Given the description of an element on the screen output the (x, y) to click on. 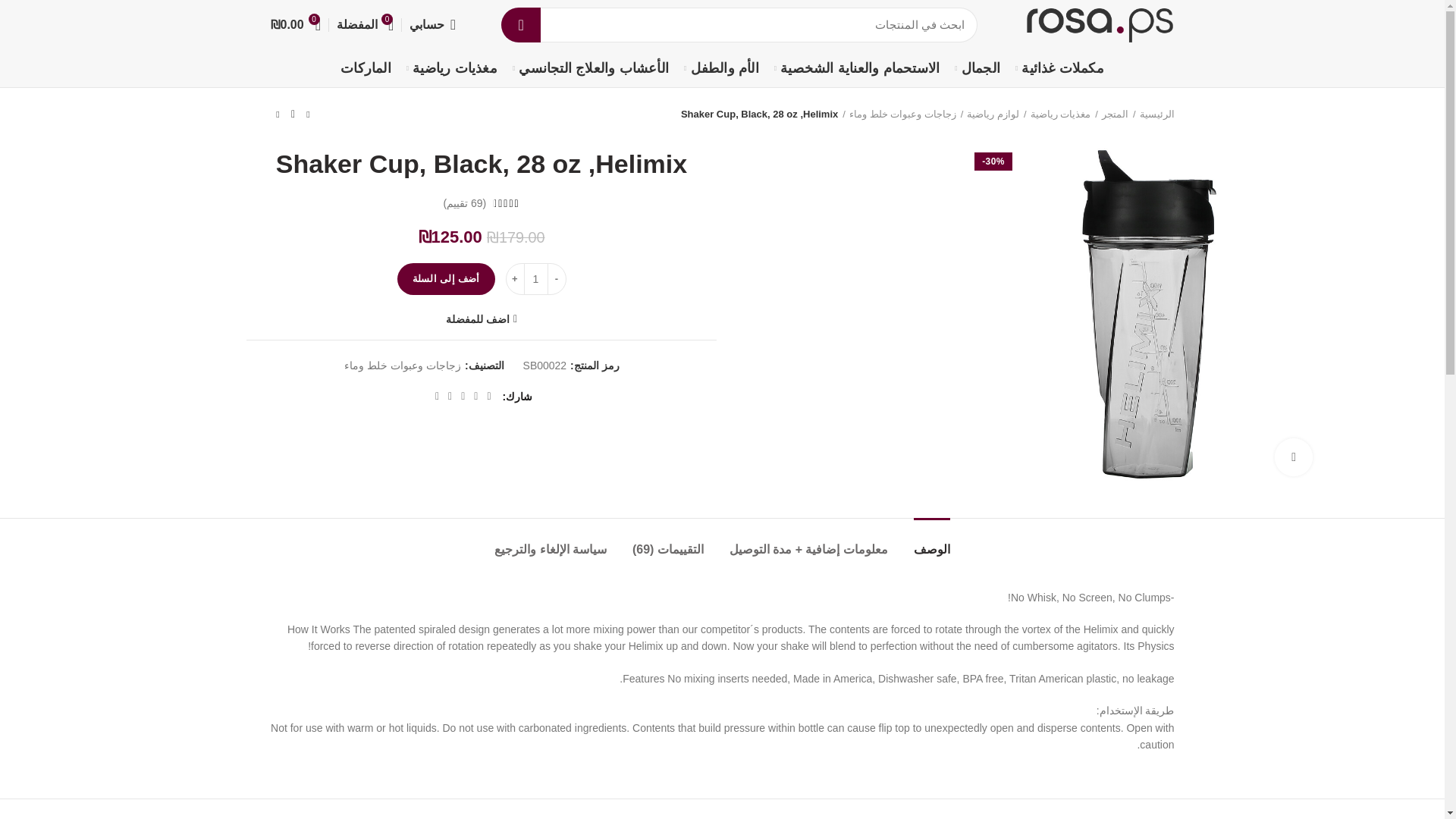
16 (1148, 313)
SEARCH (520, 24)
